Given the description of an element on the screen output the (x, y) to click on. 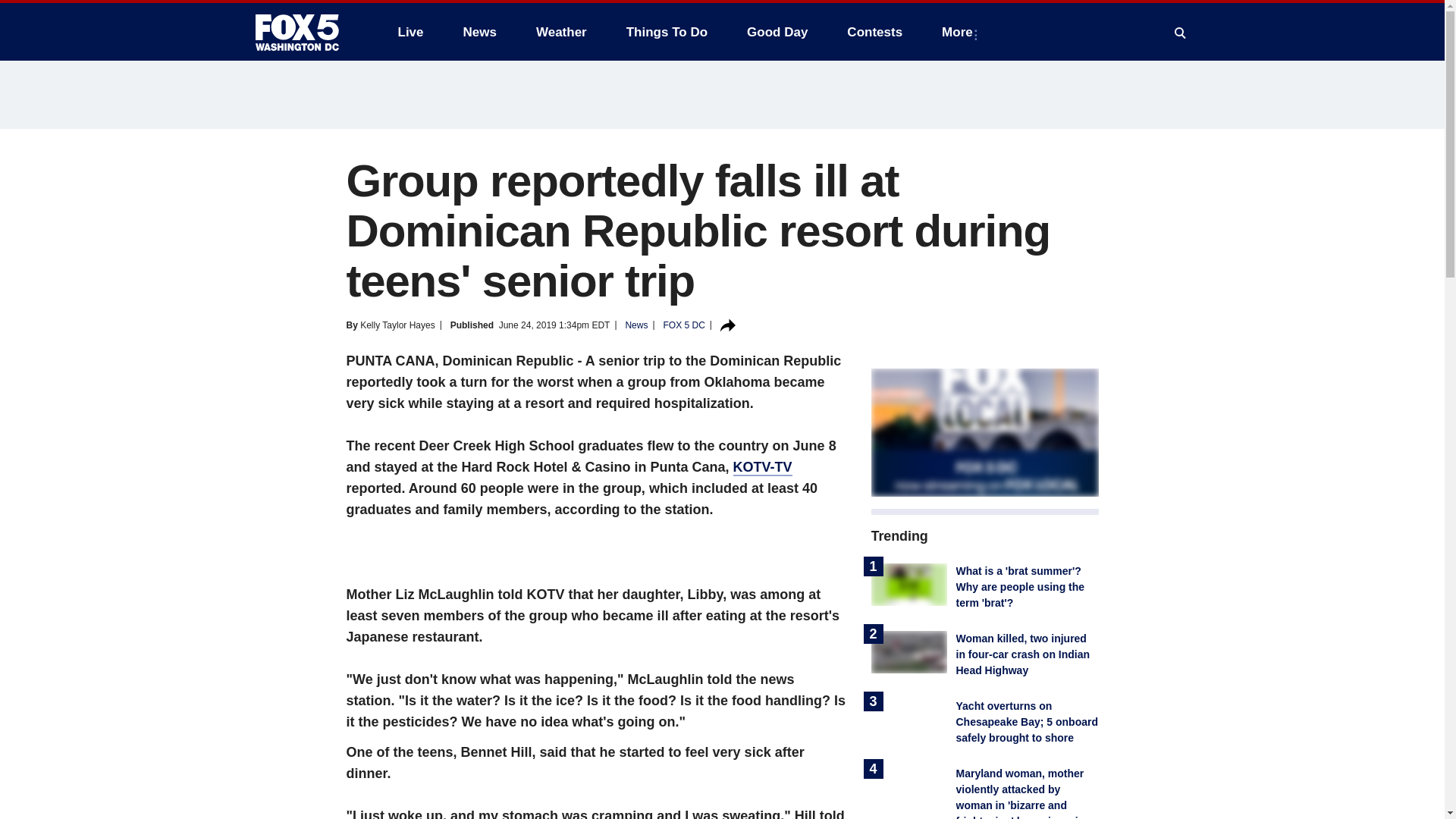
Things To Do (666, 32)
Contests (874, 32)
Live (410, 32)
Good Day (777, 32)
Weather (561, 32)
News (479, 32)
More (960, 32)
